Given the description of an element on the screen output the (x, y) to click on. 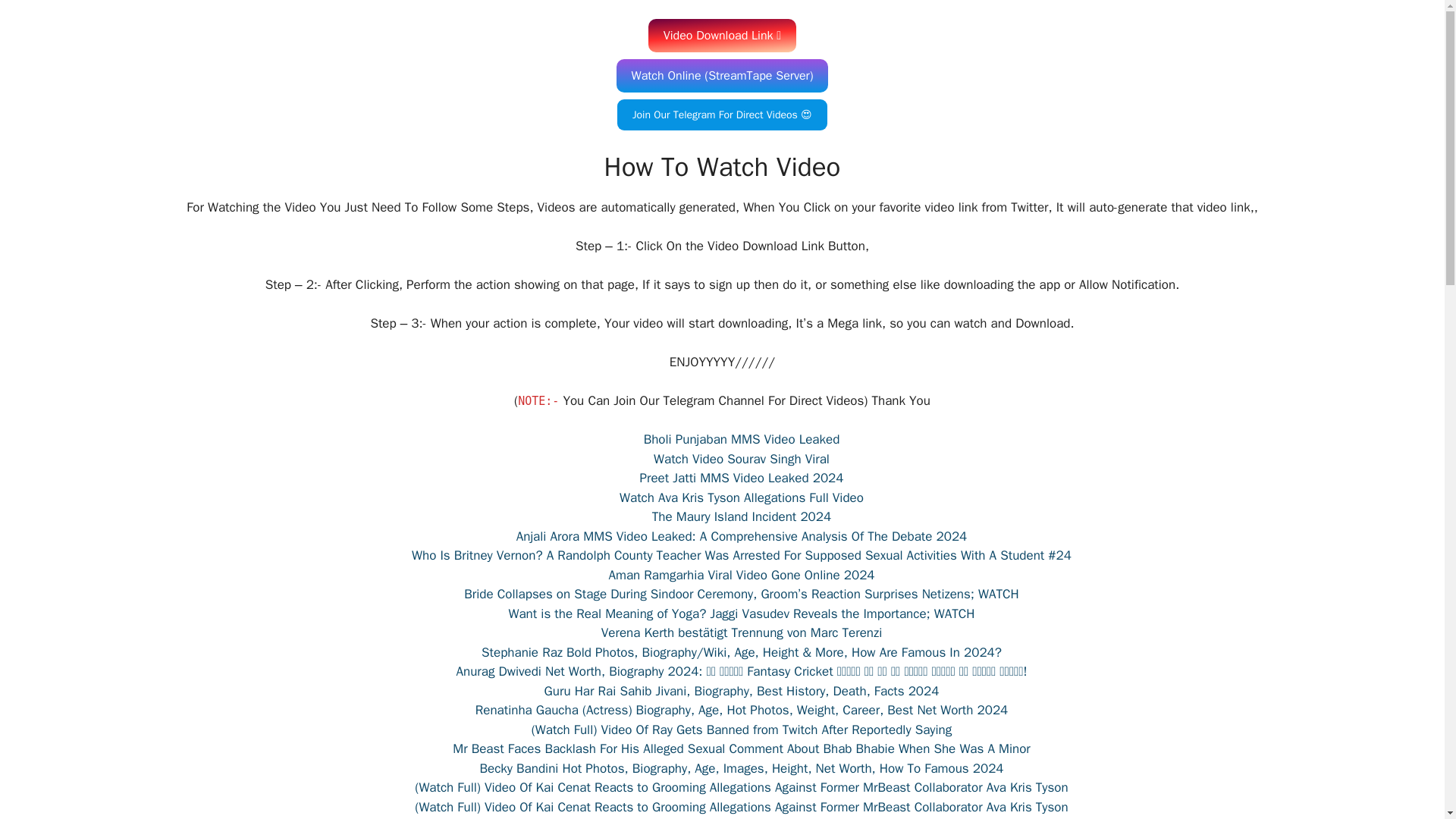
Preet Jatti MMS Video Leaked 2024 (742, 478)
Aman Ramgarhia Viral Video Gone Online 2024 (741, 575)
The Maury Island Incident 2024 (741, 516)
Watch Video Sourav Singh Viral (741, 458)
Watch Ava Kris Tyson Allegations Full Video (741, 497)
Bholi Punjaban MMS Video Leaked (741, 439)
